Given the description of an element on the screen output the (x, y) to click on. 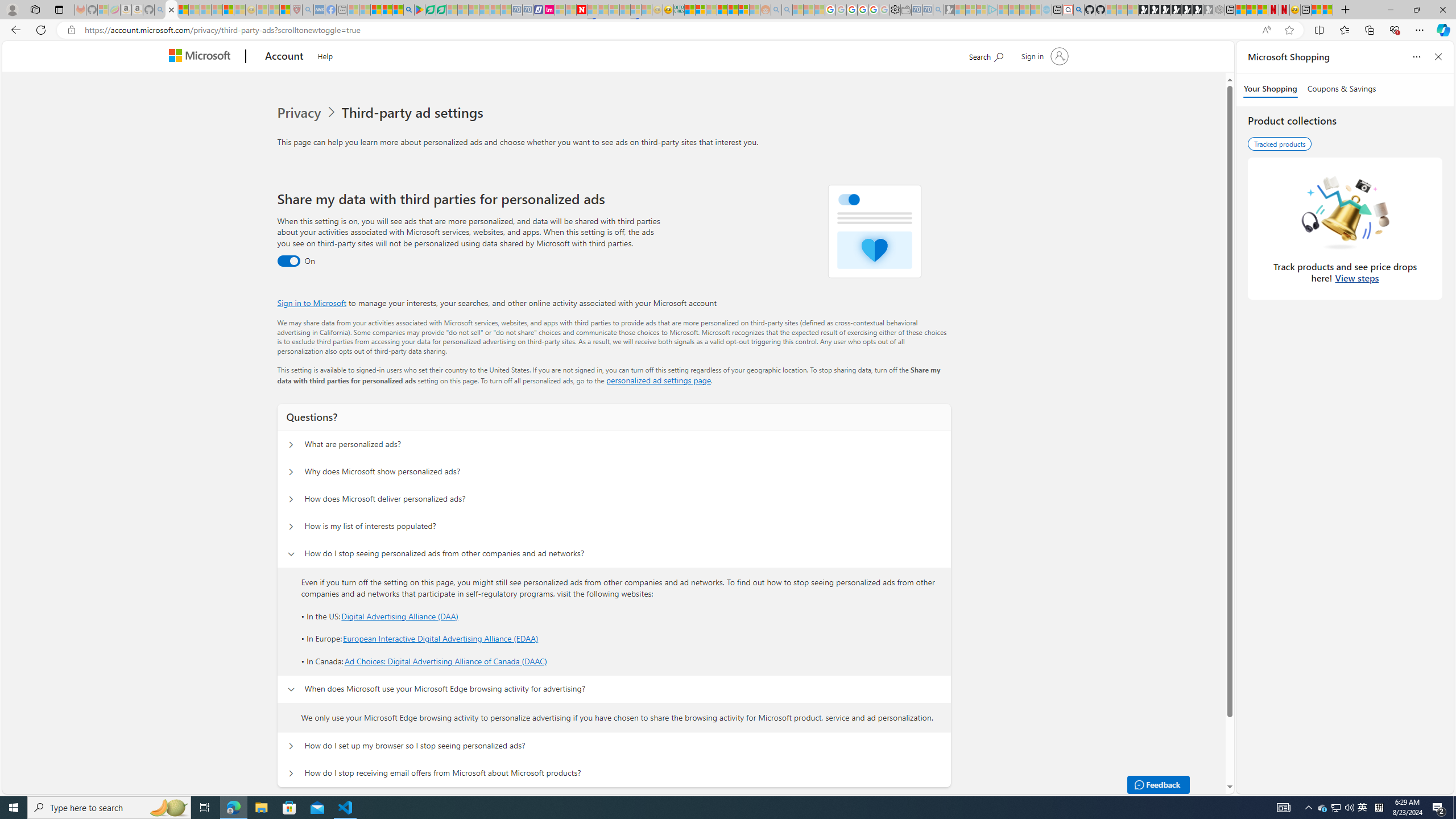
personalized ad settings page (658, 379)
Questions? How does Microsoft deliver personalized ads? (290, 499)
Ad Choices: Digital Advertising Alliance of Canada (DAAC) (445, 660)
Bluey: Let's Play! - Apps on Google Play (419, 9)
